Given the description of an element on the screen output the (x, y) to click on. 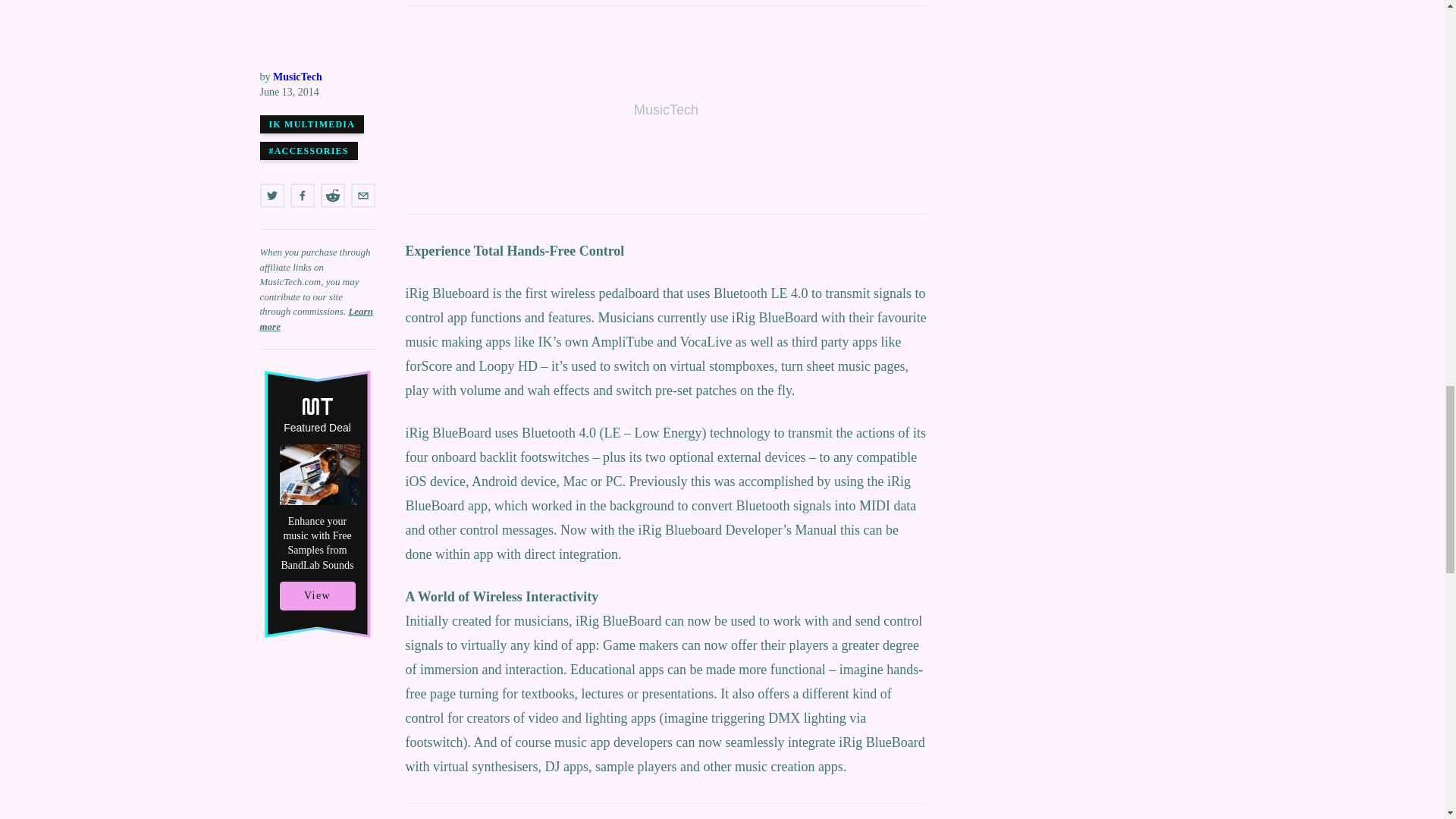
3rd party ad content (664, 109)
